Given the description of an element on the screen output the (x, y) to click on. 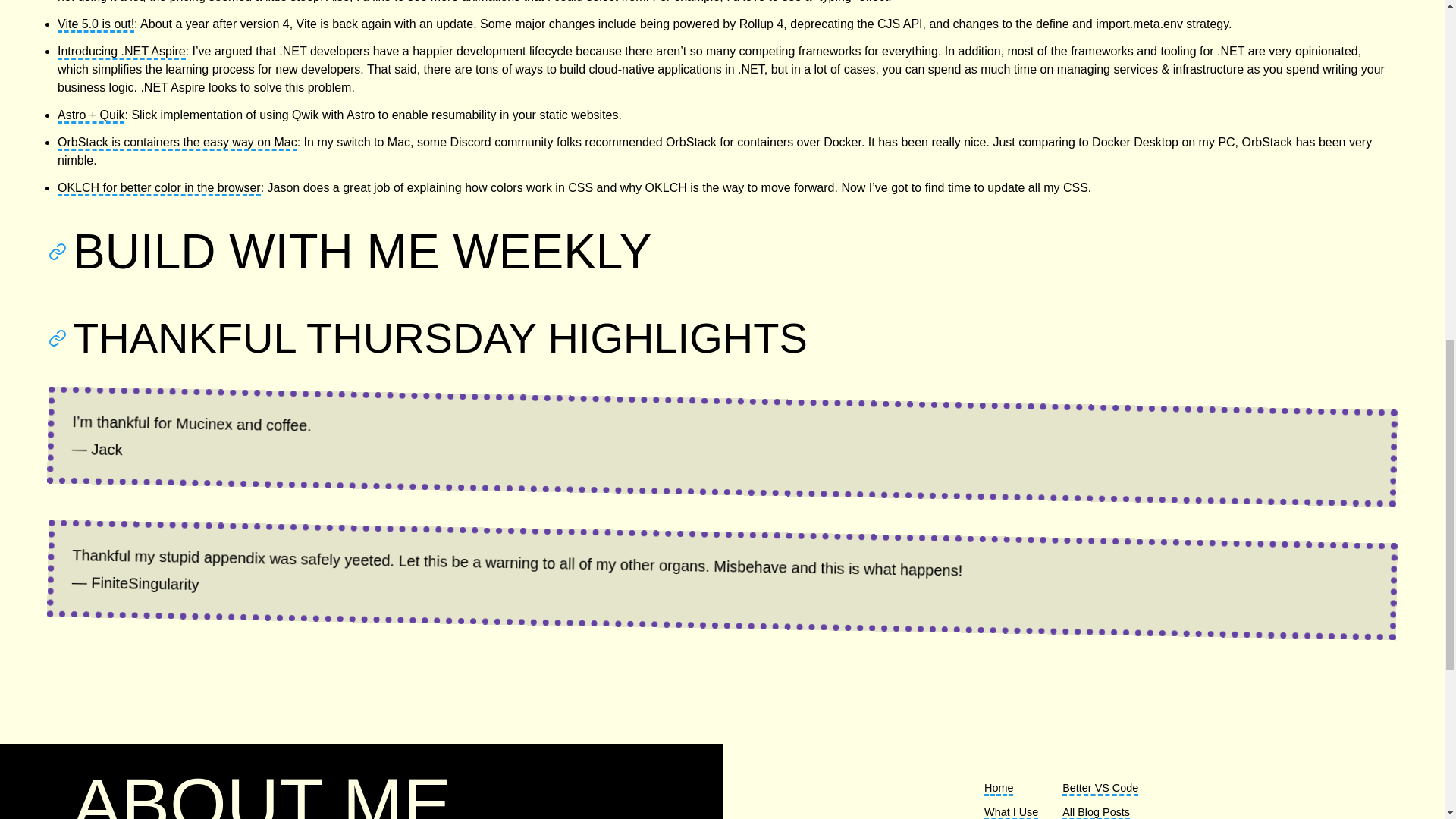
OKLCH for better color in the browser (159, 188)
Introducing .NET Aspire (122, 52)
Better VS Code (1100, 789)
What I Use (1011, 812)
OrbStack is containers the easy way on Mac (177, 142)
Copy link to clipboard (60, 251)
All Blog Posts (1095, 812)
Vite 5.0 is out! (95, 24)
PERMALINK (60, 338)
Home (998, 789)
PERMALINK (60, 251)
Copy link to clipboard (60, 338)
